Given the description of an element on the screen output the (x, y) to click on. 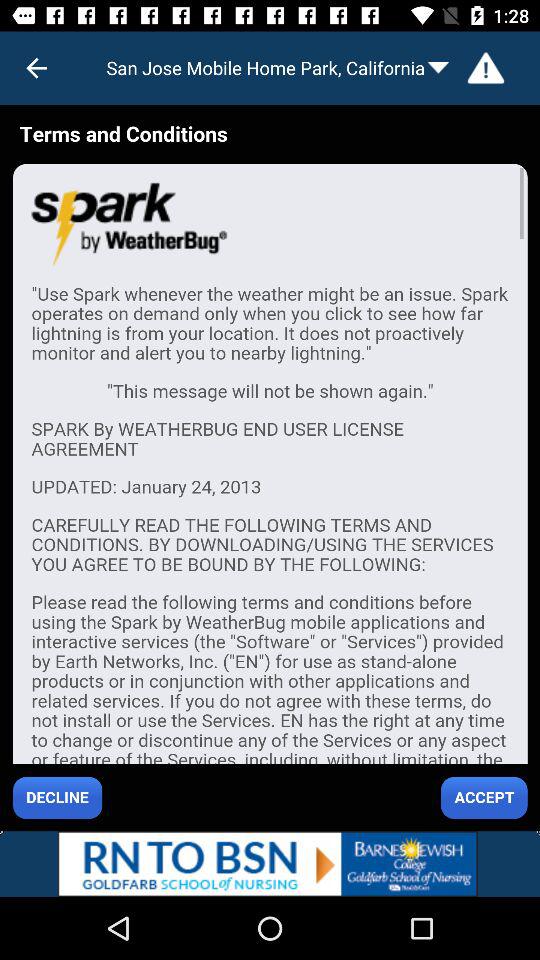
advertisement (270, 864)
